Given the description of an element on the screen output the (x, y) to click on. 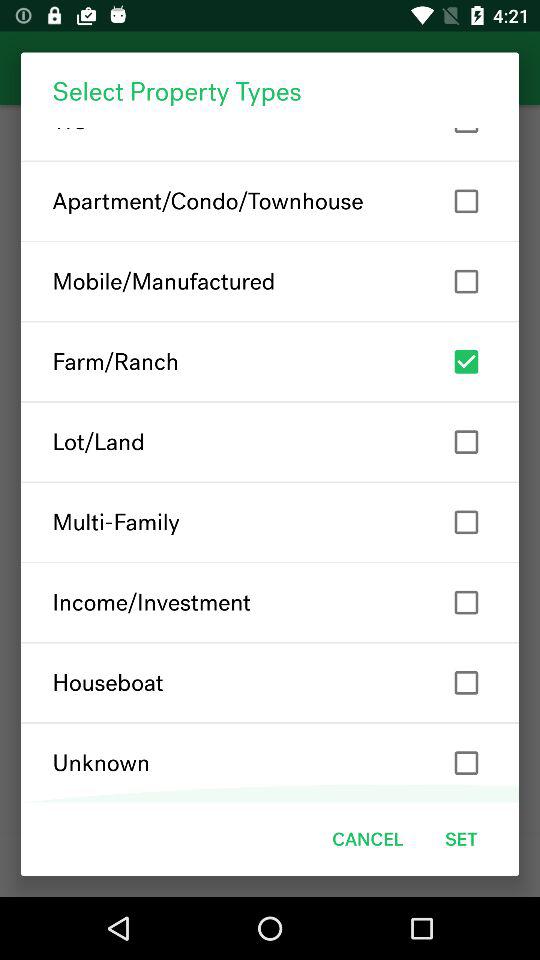
turn on the cancel item (367, 838)
